Given the description of an element on the screen output the (x, y) to click on. 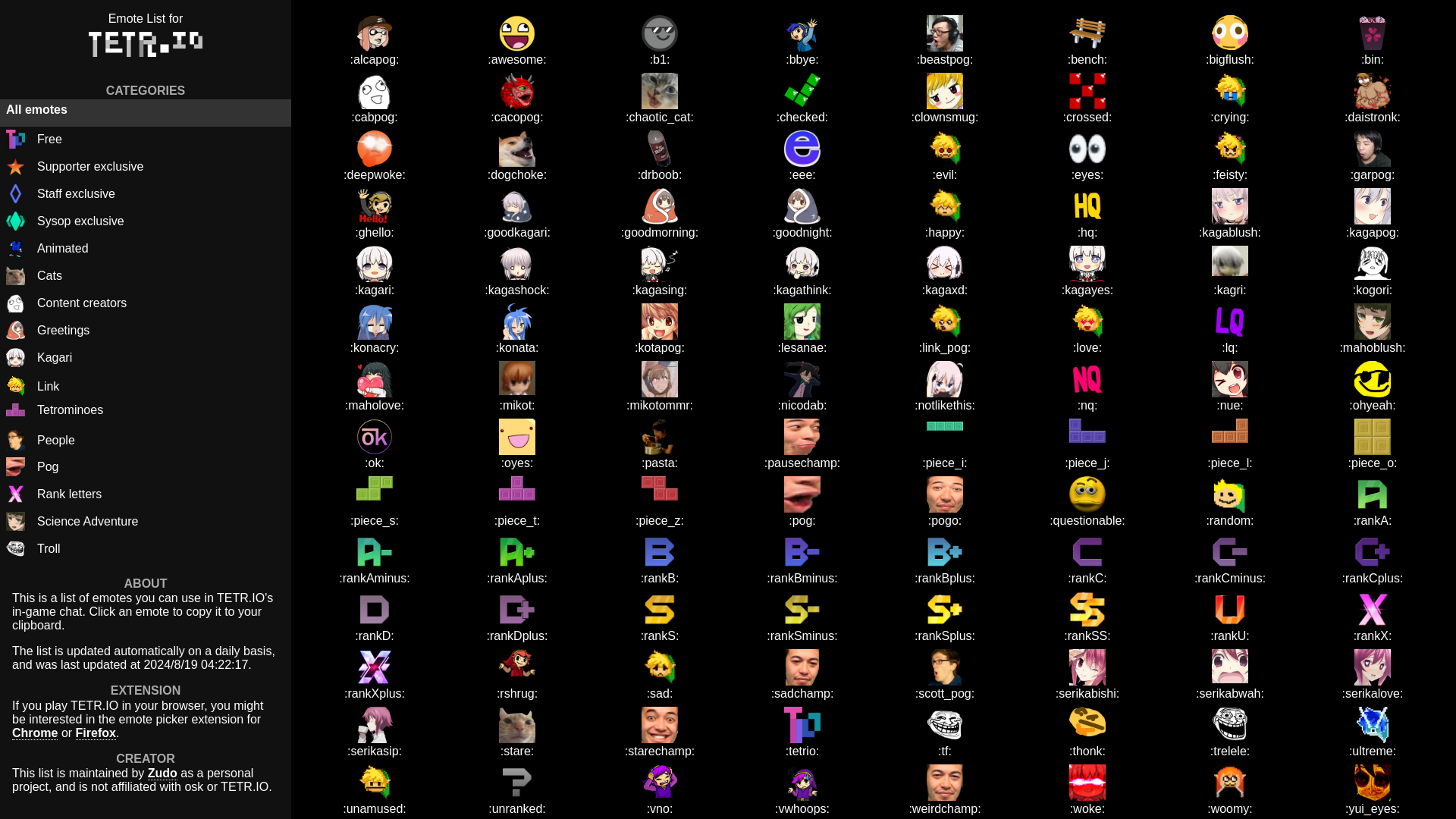
Chrome (34, 733)
Firefox (95, 733)
Zudo (162, 773)
